Given the description of an element on the screen output the (x, y) to click on. 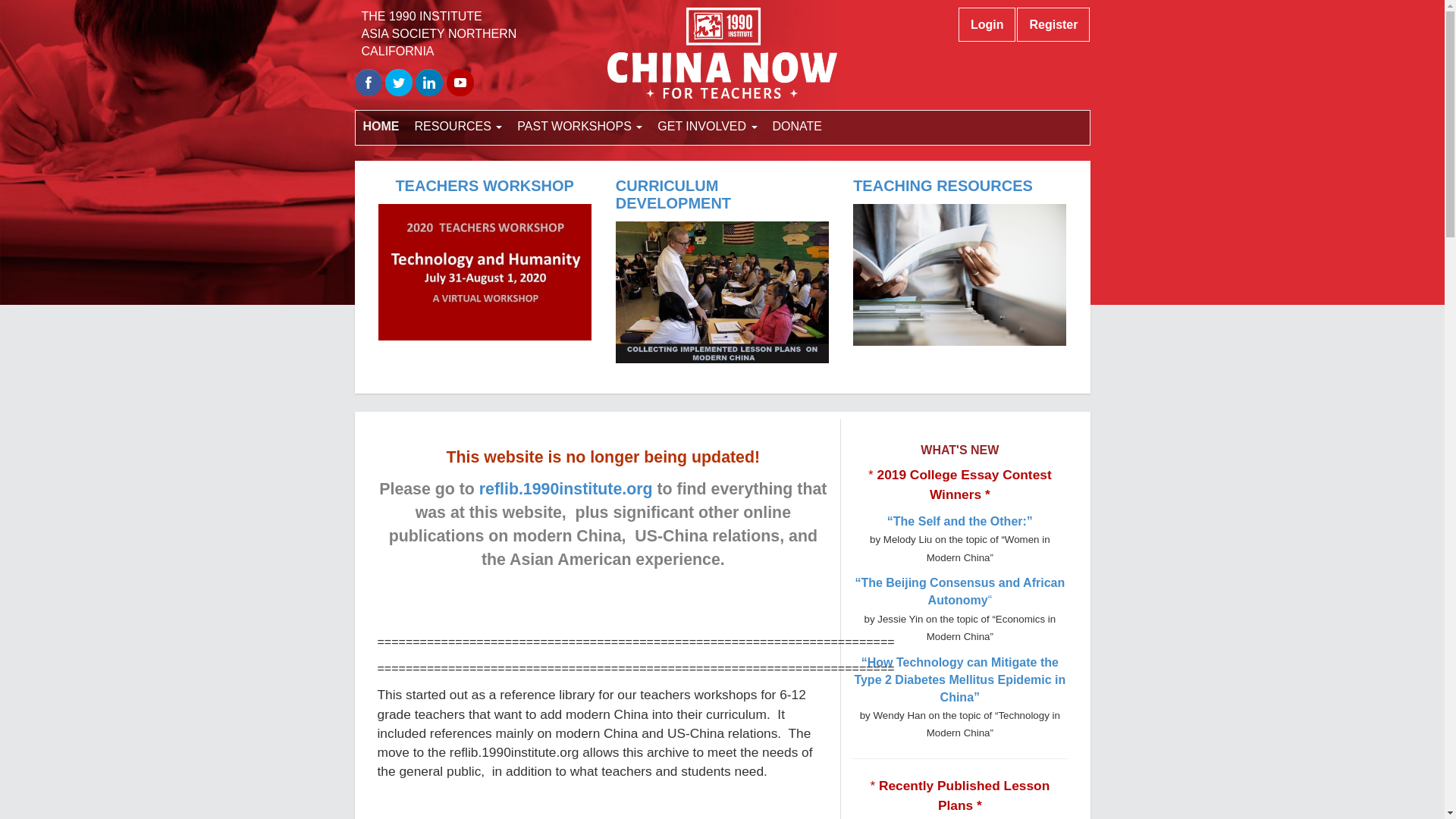
PAST WORKSHOPS (579, 127)
Login (986, 24)
ASIA SOCIETY NORTHERN CALIFORNIA (438, 42)
Home (380, 127)
RESOURCES (457, 127)
Register (1053, 24)
GET INVOLVED (706, 127)
PAST WORKSHOPS (579, 127)
HOME (380, 127)
THE 1990 INSTITUTE (421, 15)
RESOURCES (457, 127)
